Given the description of an element on the screen output the (x, y) to click on. 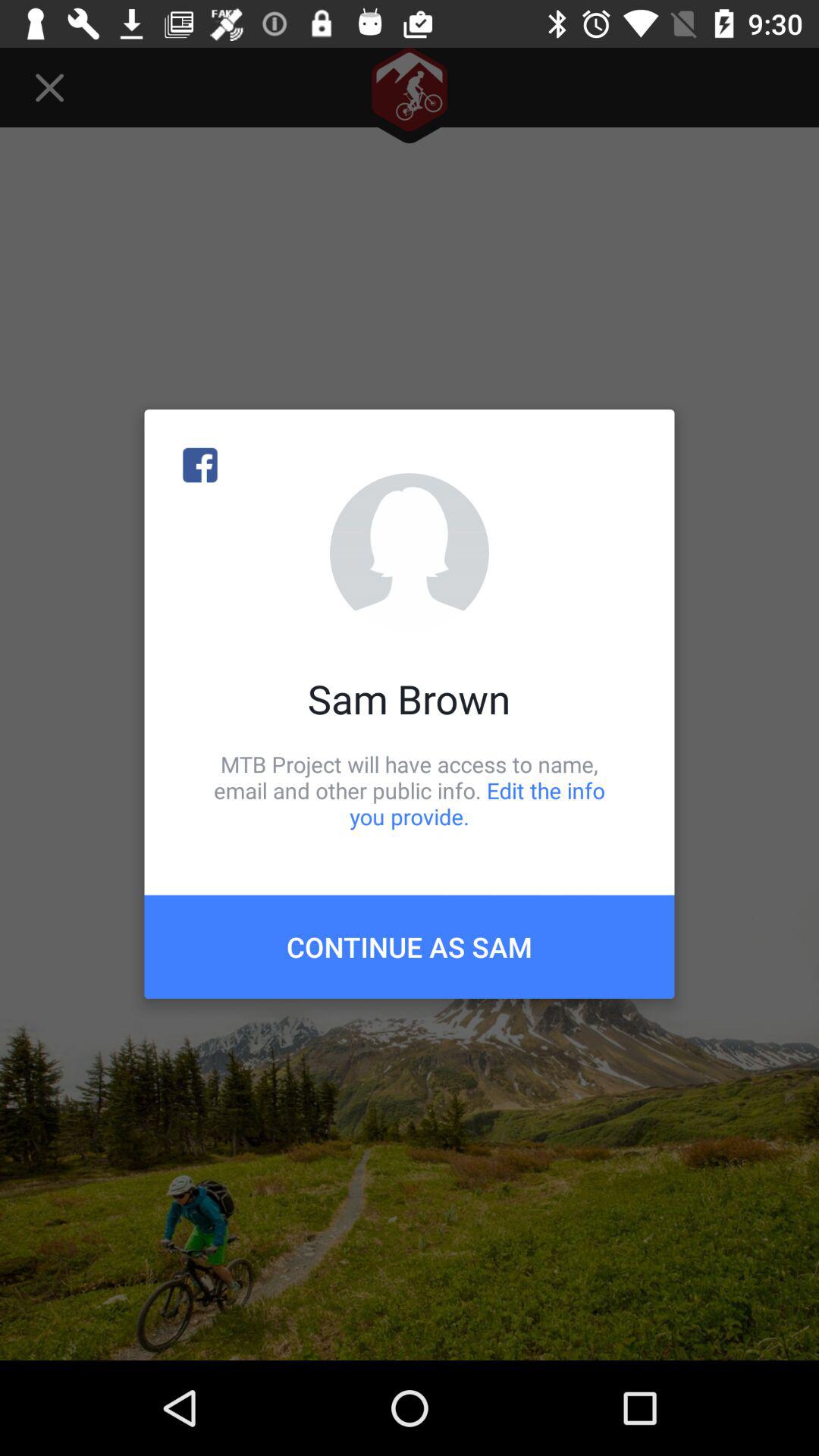
click icon above continue as sam icon (409, 790)
